Given the description of an element on the screen output the (x, y) to click on. 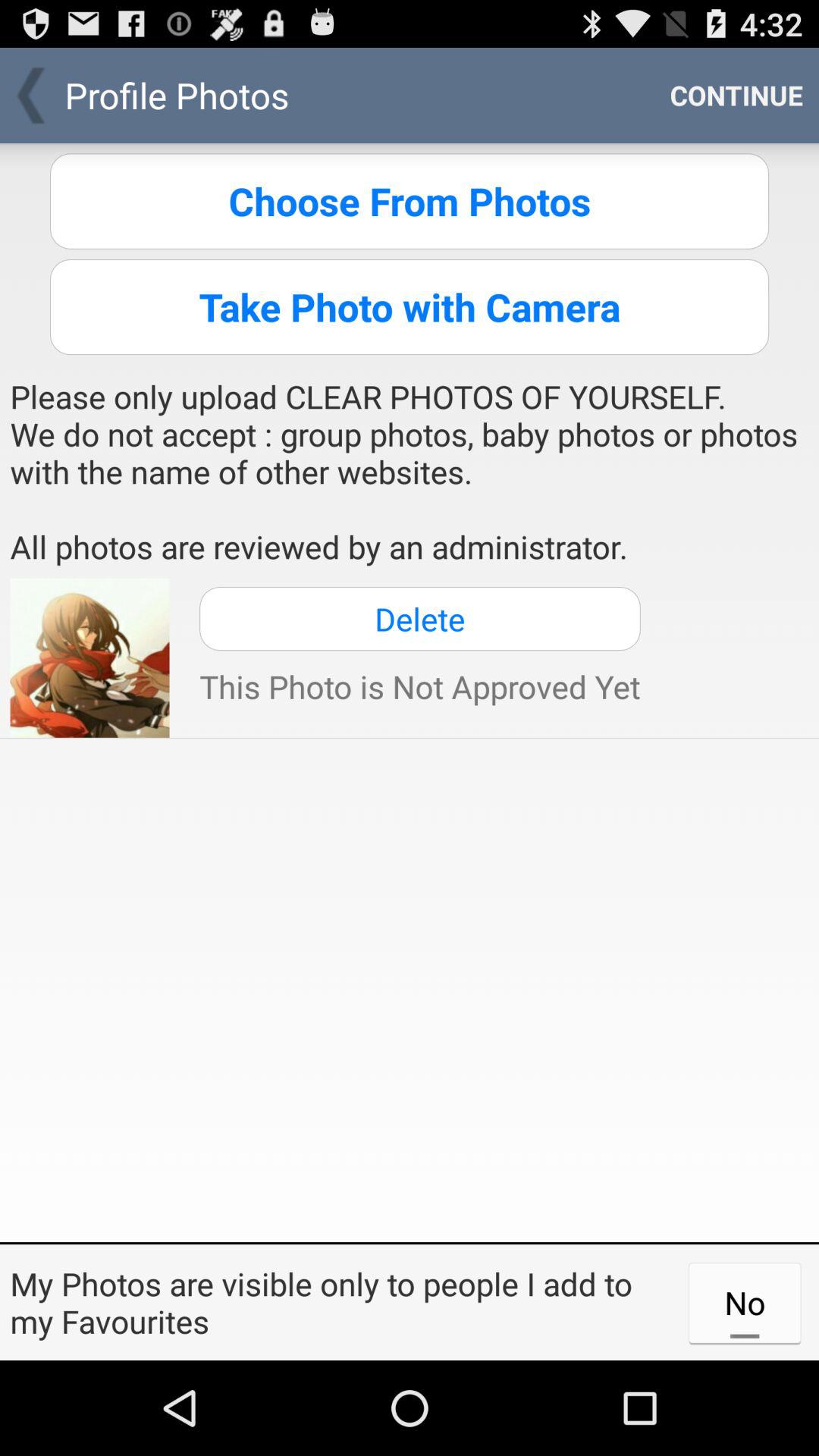
launch the this photo is app (419, 686)
